Given the description of an element on the screen output the (x, y) to click on. 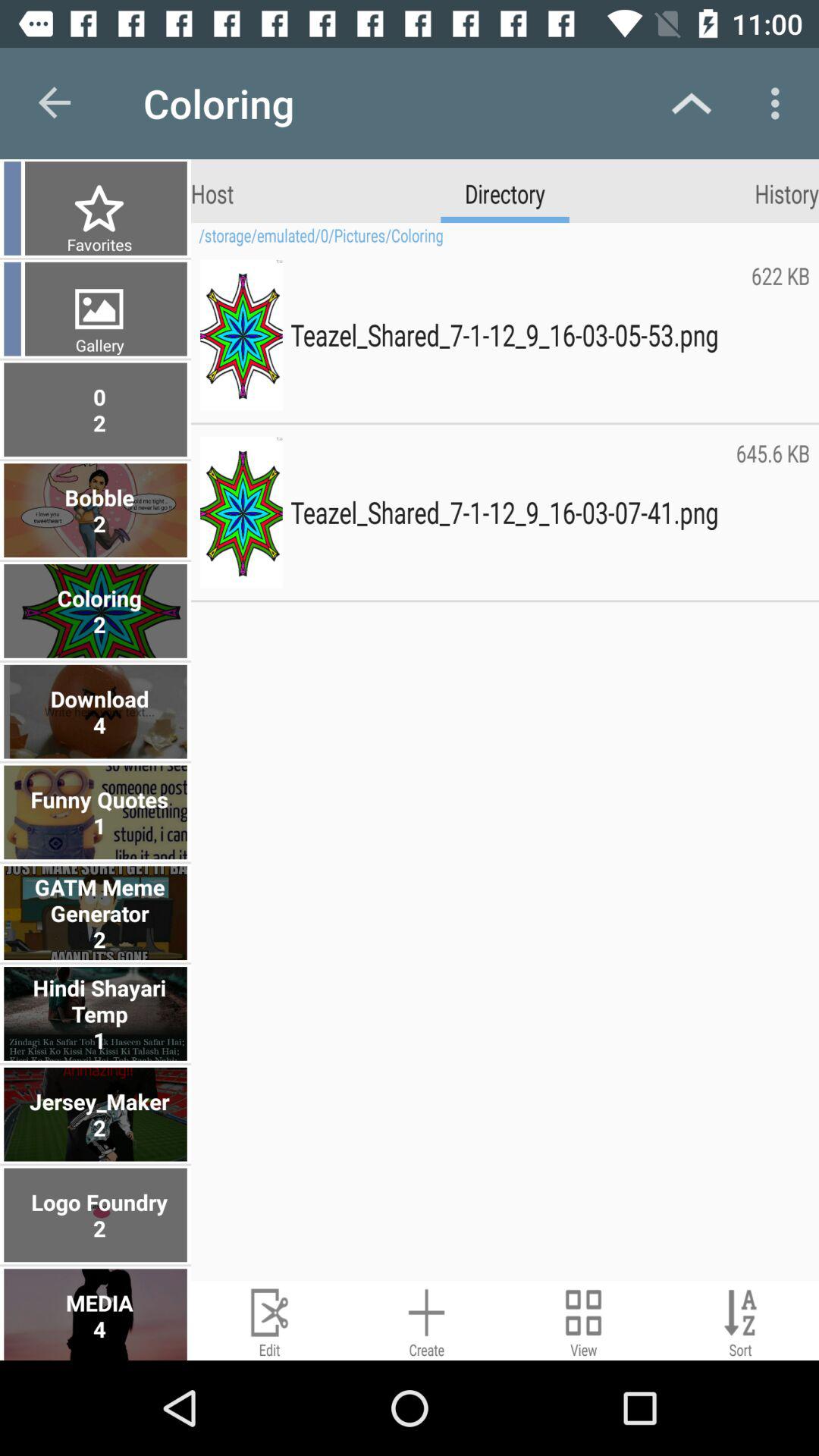
jump to favorites item (97, 244)
